Given the description of an element on the screen output the (x, y) to click on. 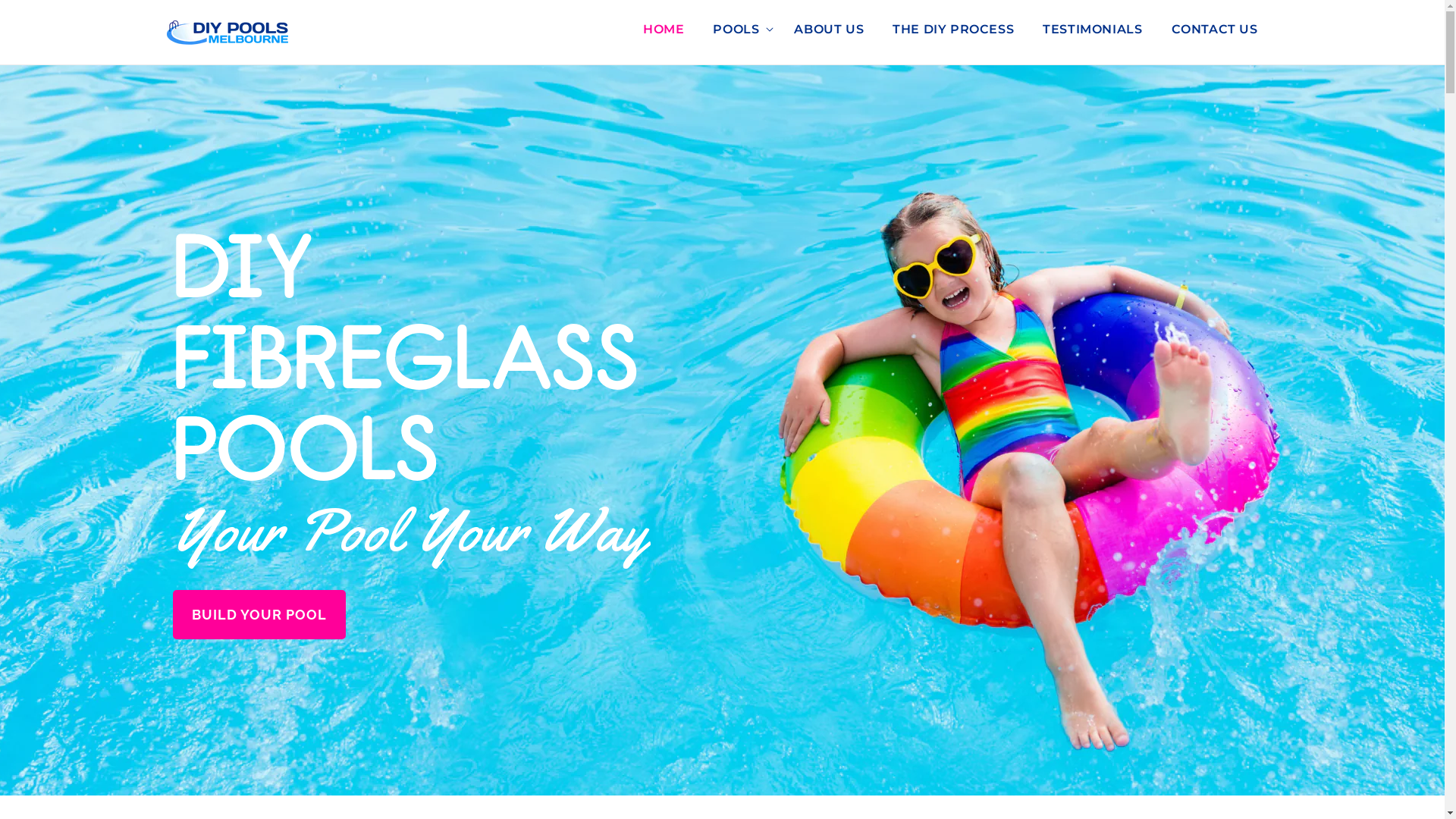
HOME Element type: text (663, 34)
TESTIMONIALS Element type: text (1092, 34)
BUILD YOUR POOL Element type: text (258, 614)
ABOUT US Element type: text (828, 34)
CONTACT US Element type: text (1214, 34)
THE DIY PROCESS Element type: text (953, 34)
